Given the description of an element on the screen output the (x, y) to click on. 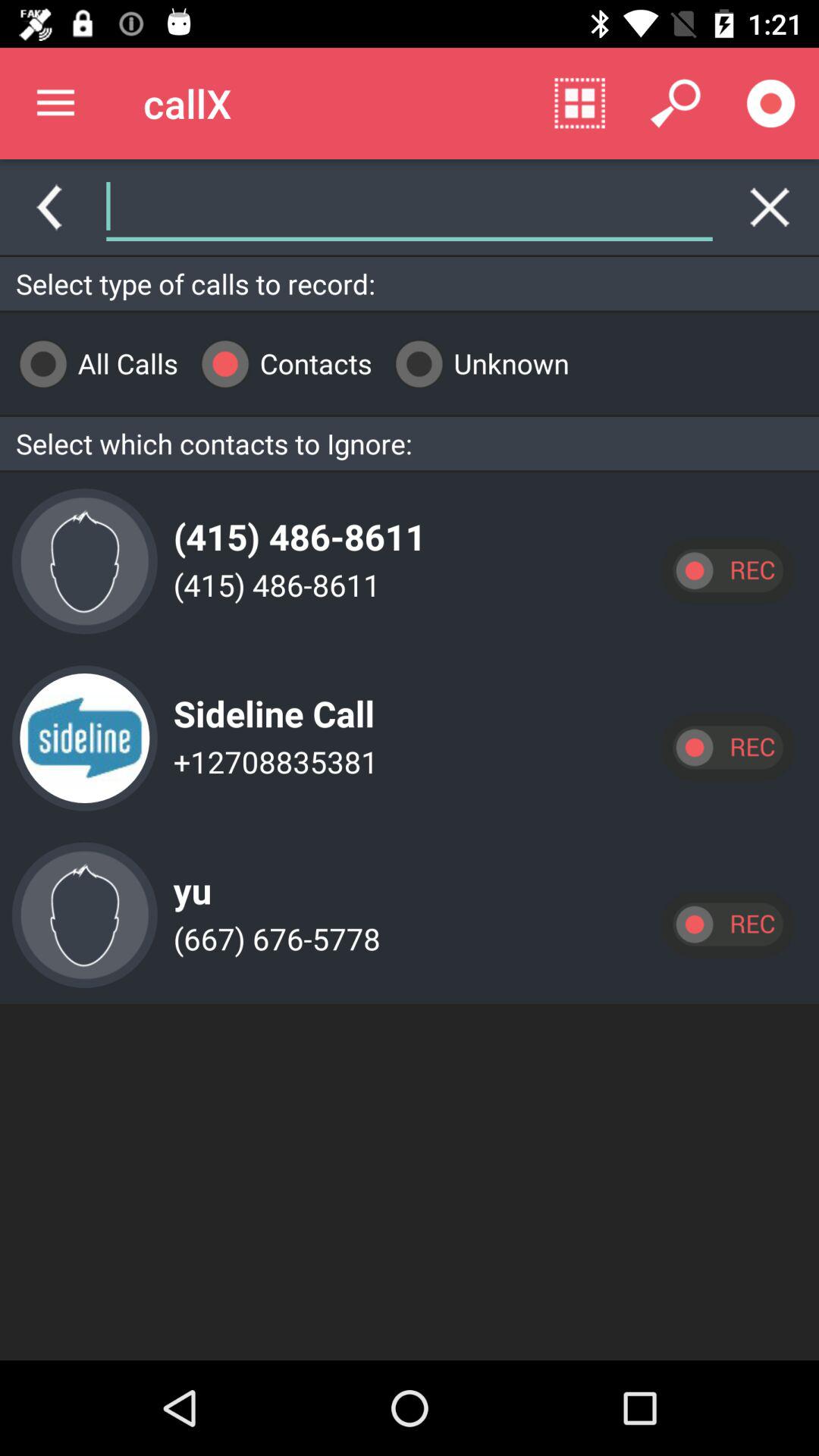
cancel the search (769, 206)
